Given the description of an element on the screen output the (x, y) to click on. 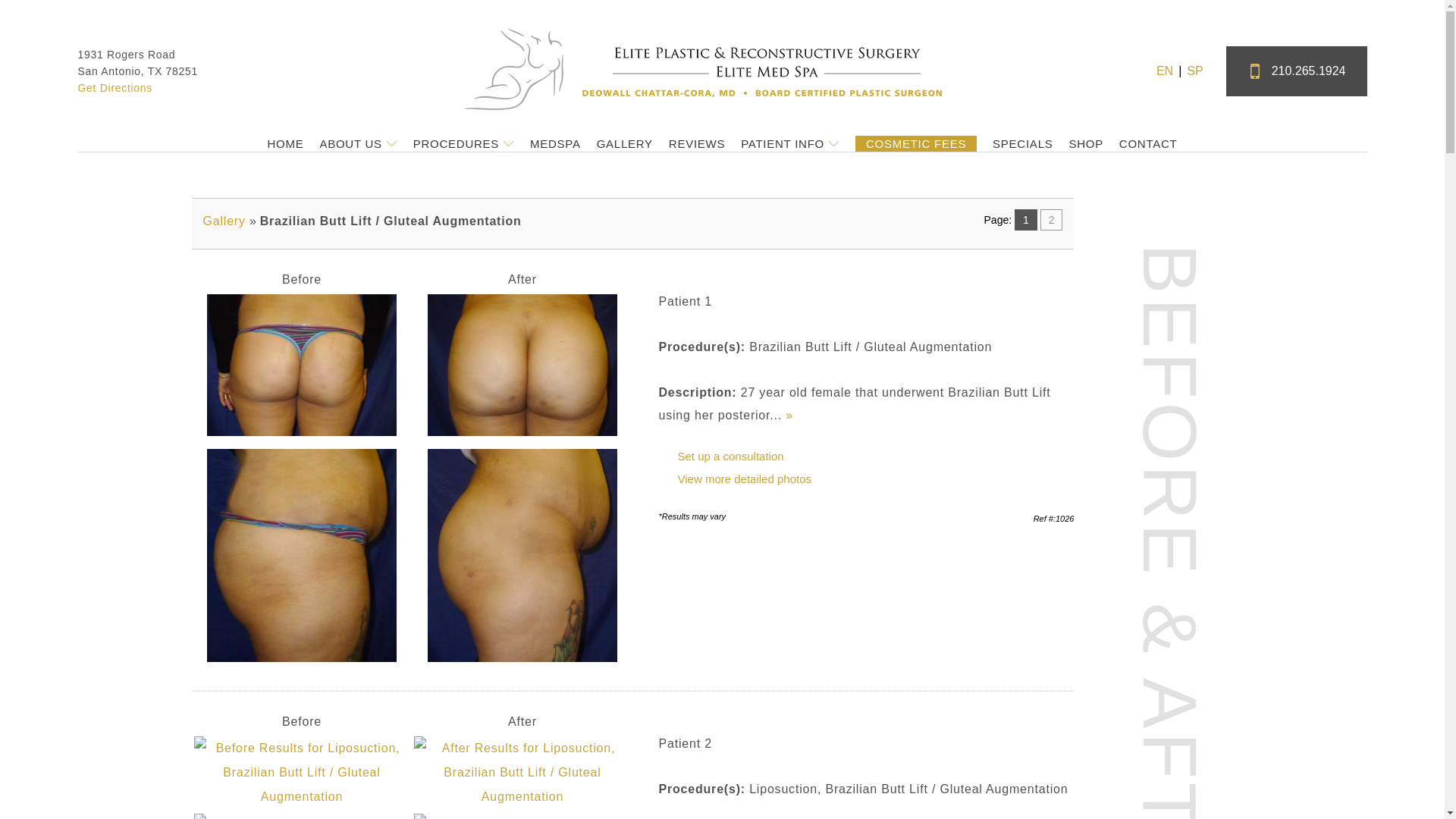
MEDSPA (554, 143)
HOME (284, 143)
EN (1164, 69)
SP (1194, 69)
ABOUT US (357, 143)
Get Directions (114, 87)
PROCEDURES (463, 143)
210.265.1924 (1296, 70)
